Given the description of an element on the screen output the (x, y) to click on. 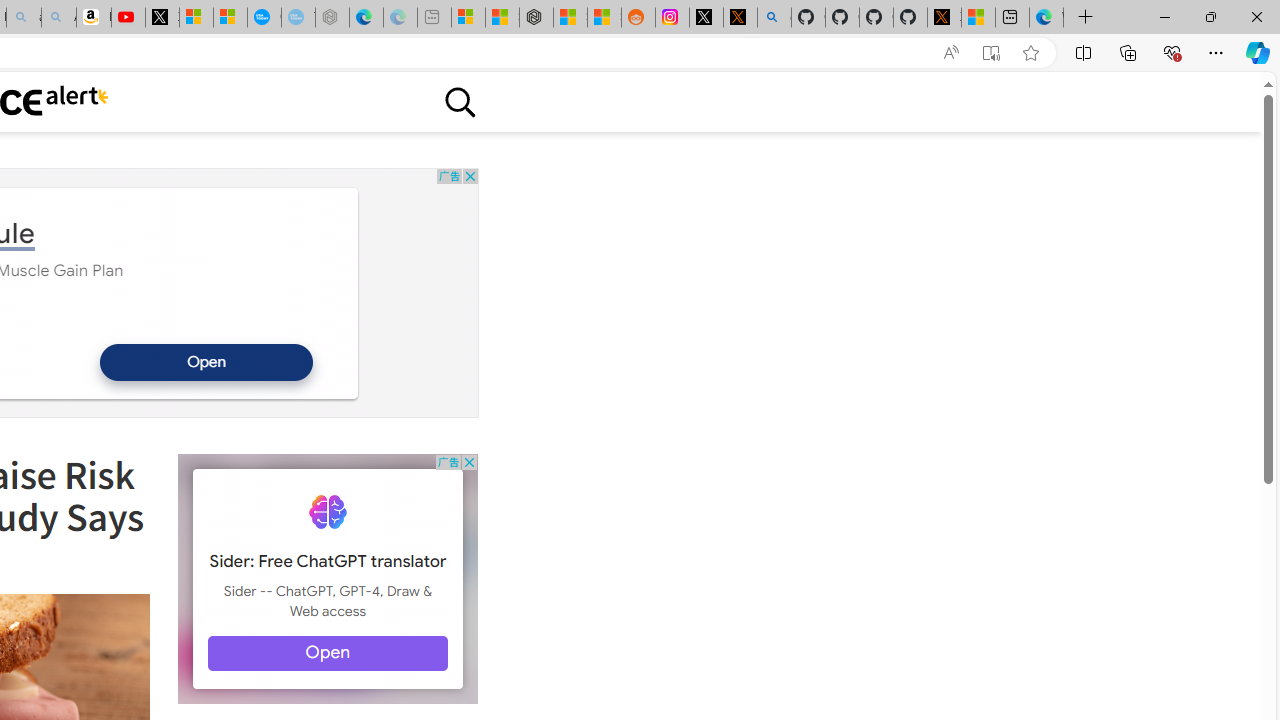
Class: sciencealert-search-desktop-svg  (459, 102)
Nordace - Duffels (535, 17)
The most popular Google 'how to' searches - Sleeping (297, 17)
